Given the description of an element on the screen output the (x, y) to click on. 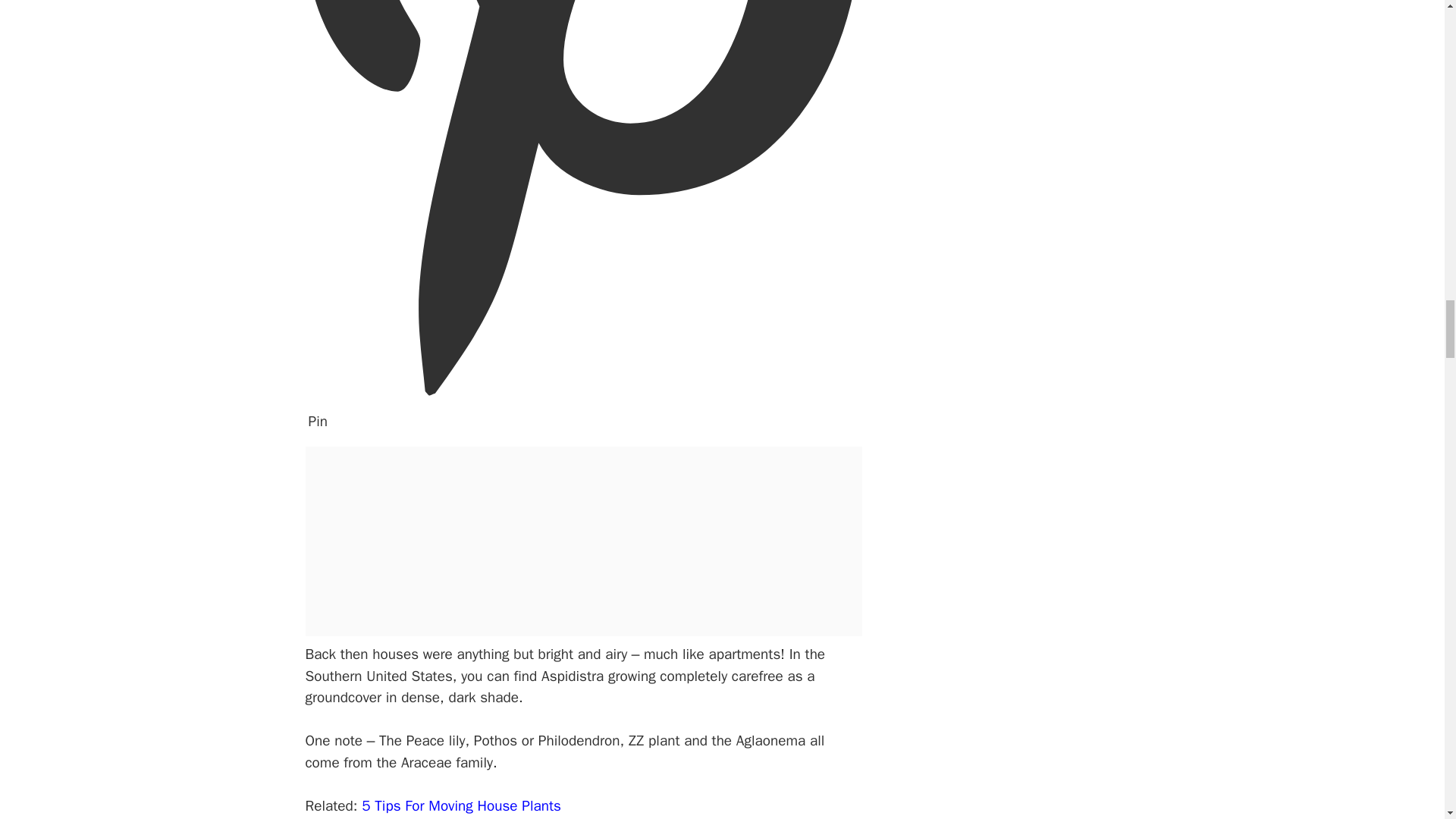
5 Tips For Moving House Plants (460, 805)
